Given the description of an element on the screen output the (x, y) to click on. 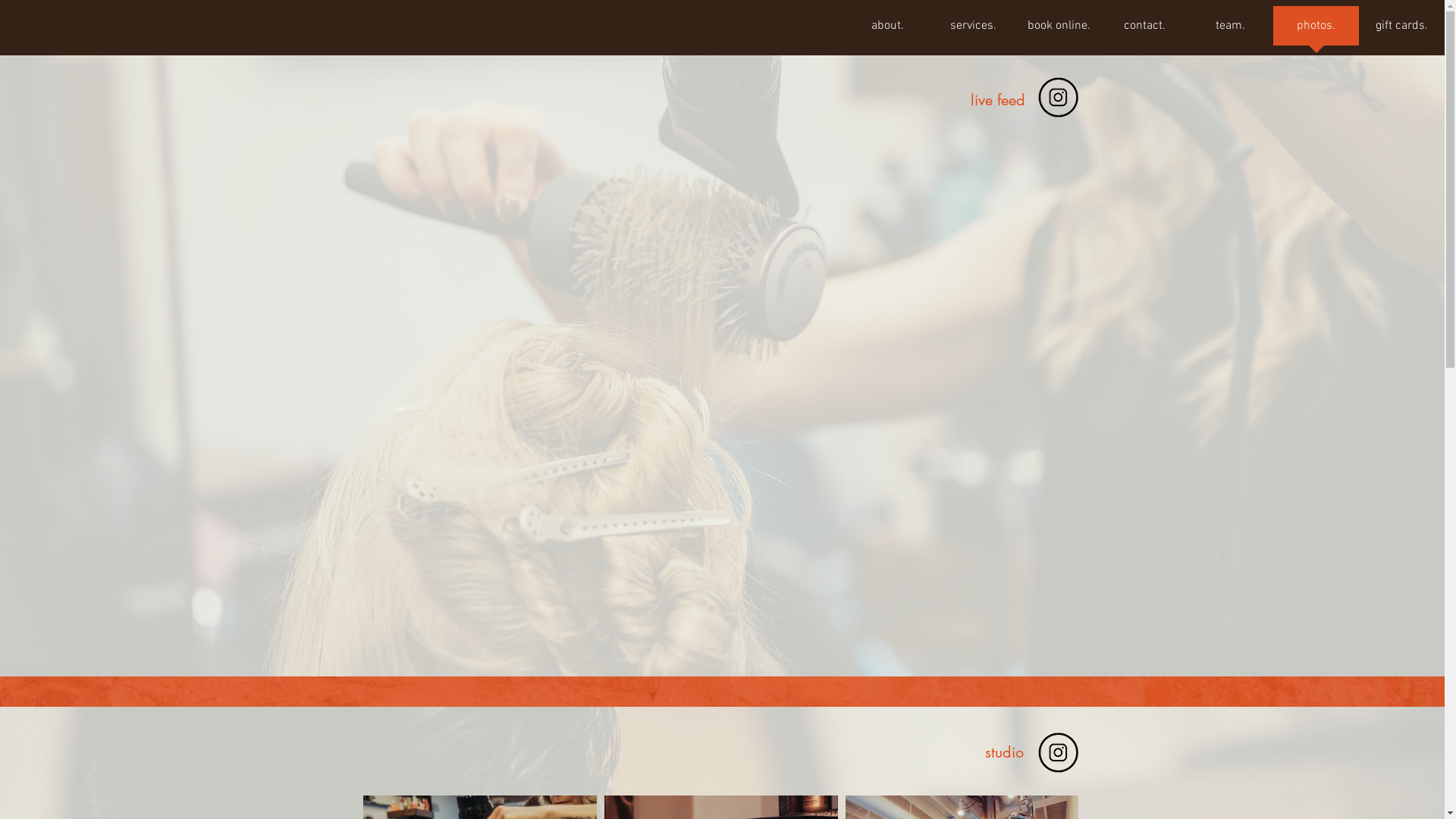
about. Element type: text (887, 30)
gift cards. Element type: text (1401, 30)
services. Element type: text (973, 30)
team. Element type: text (1230, 30)
Instagram Feeds Element type: hover (719, 406)
contact. Element type: text (1144, 30)
photos. Element type: text (1315, 30)
book online. Element type: text (1058, 30)
